Given the description of an element on the screen output the (x, y) to click on. 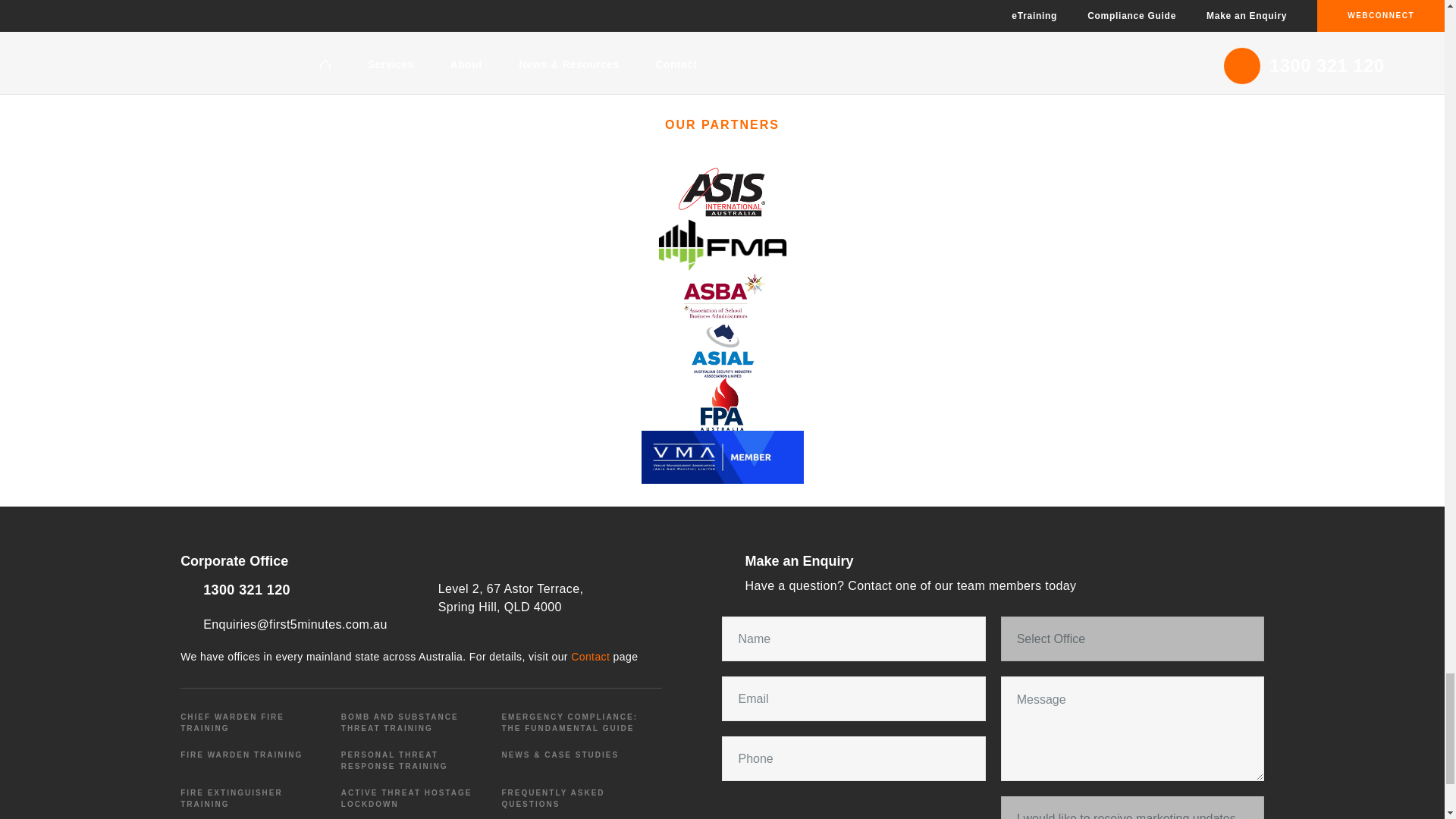
ASIS Logo (722, 191)
ASBA Logo (722, 297)
FMA full logo (722, 244)
How to Develop Your Emergency Evacuation Plan (722, 350)
